Given the description of an element on the screen output the (x, y) to click on. 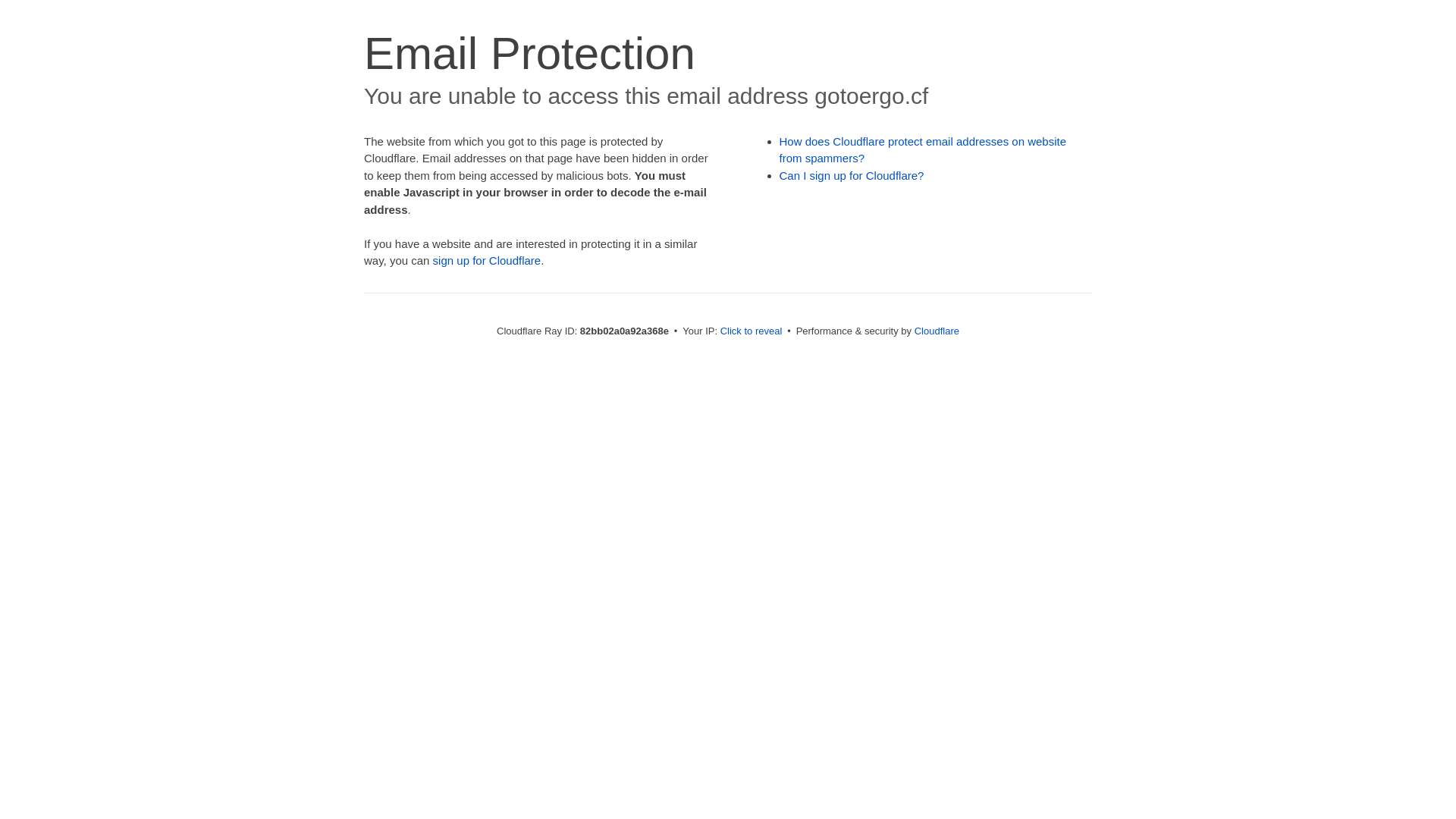
Cloudflare Element type: text (936, 330)
sign up for Cloudflare Element type: text (487, 260)
Click to reveal Element type: text (751, 330)
Can I sign up for Cloudflare? Element type: text (851, 175)
